Given the description of an element on the screen output the (x, y) to click on. 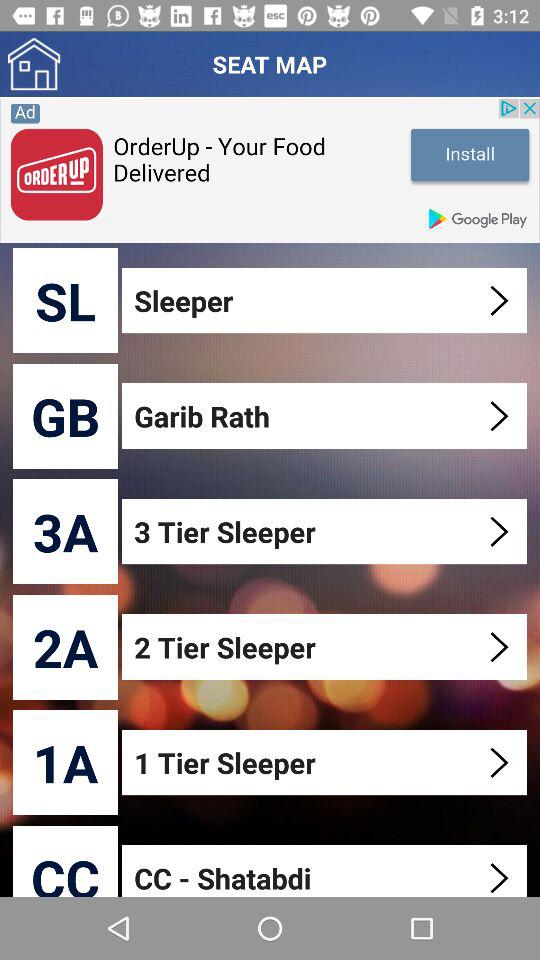
open the icon below 2a item (65, 762)
